Given the description of an element on the screen output the (x, y) to click on. 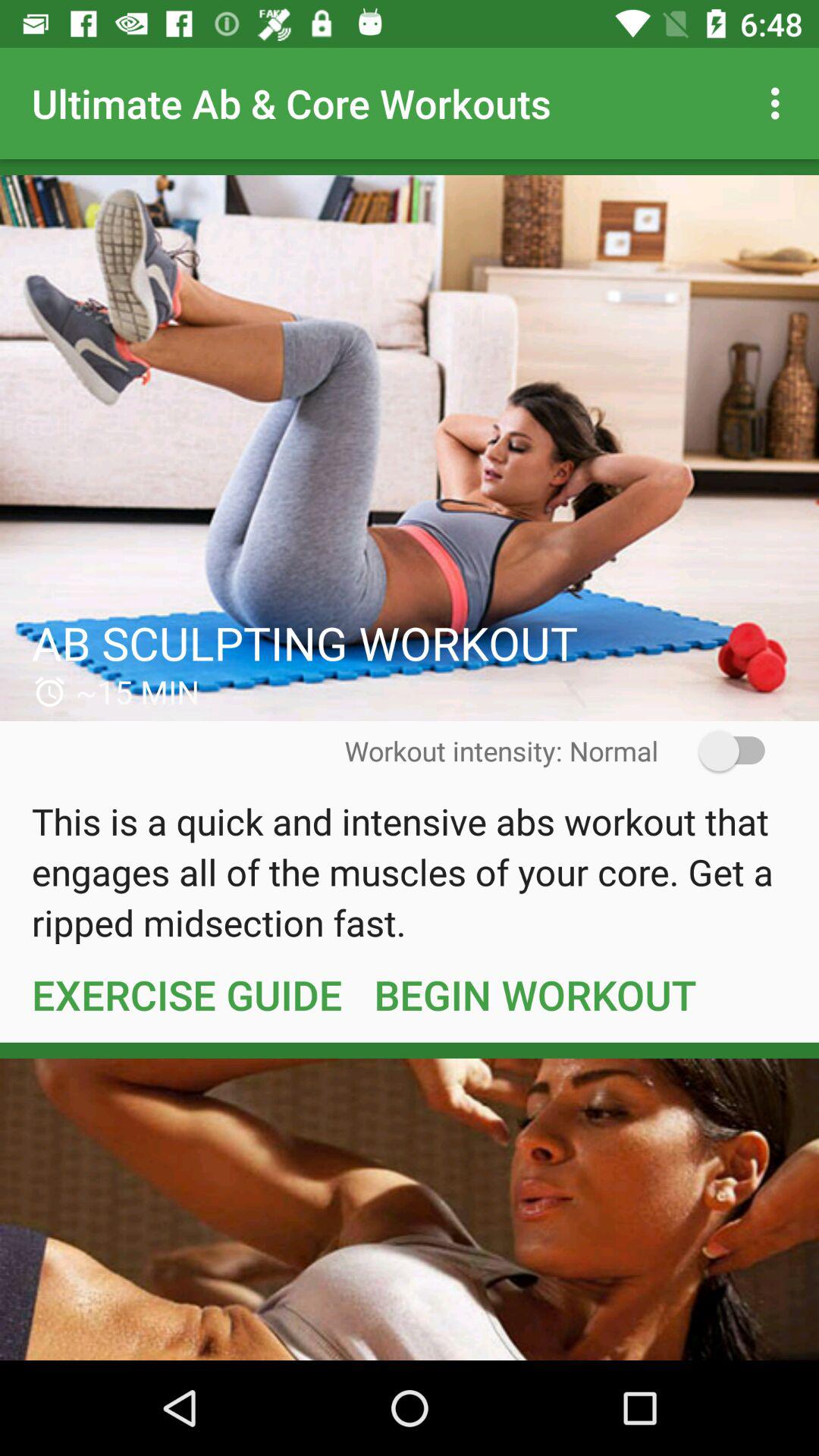
turn on icon to the right of the ultimate ab core icon (779, 103)
